Given the description of an element on the screen output the (x, y) to click on. 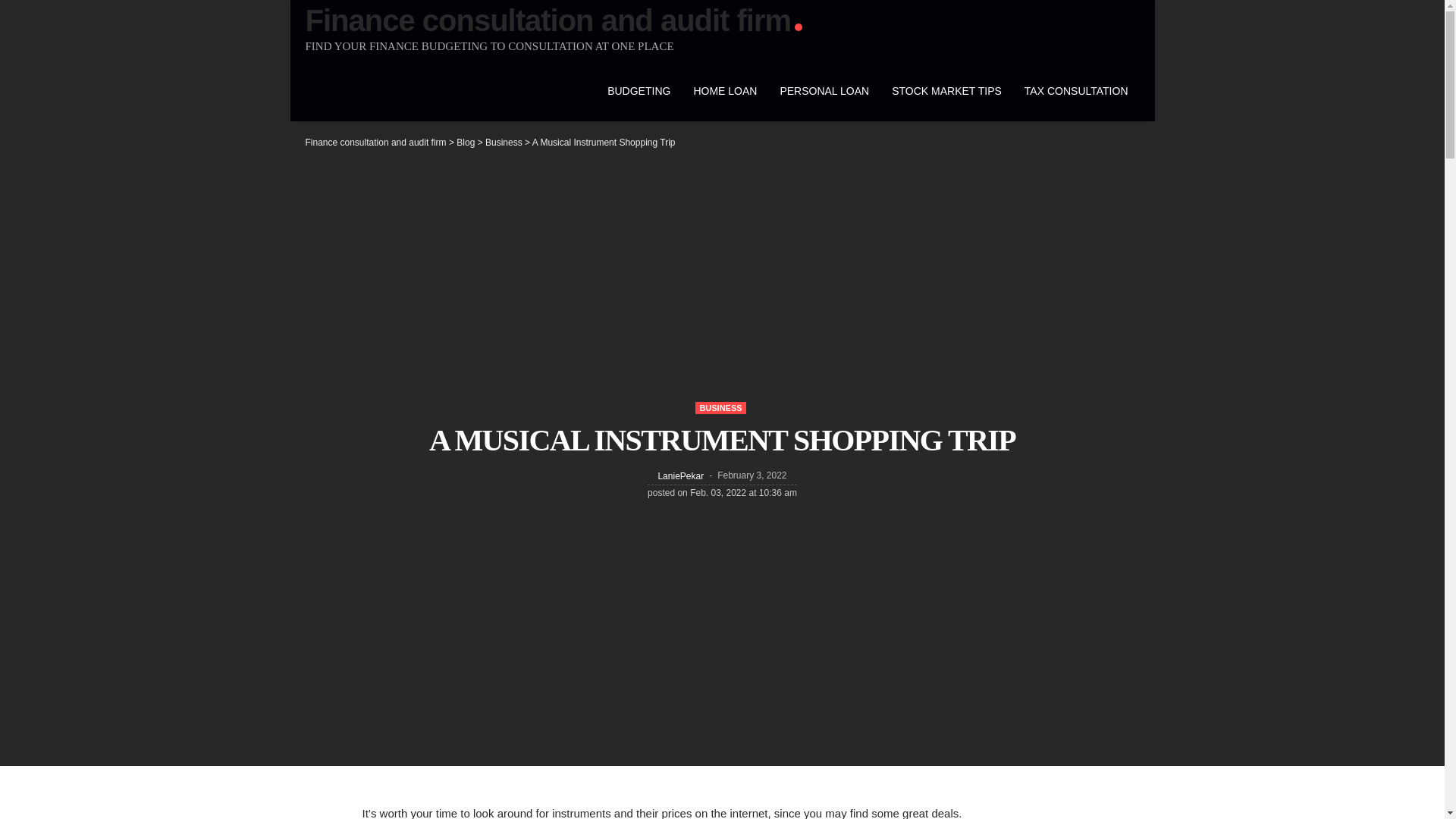
BUDGETING (638, 90)
Finance consultation and audit firm (553, 20)
Blog (465, 142)
Business (503, 142)
BUSINESS (720, 408)
STOCK MARKET TIPS (946, 90)
LaniePekar (680, 476)
Go to Blog. (465, 142)
PERSONAL LOAN (824, 90)
TAX CONSULTATION (1076, 90)
